Given the description of an element on the screen output the (x, y) to click on. 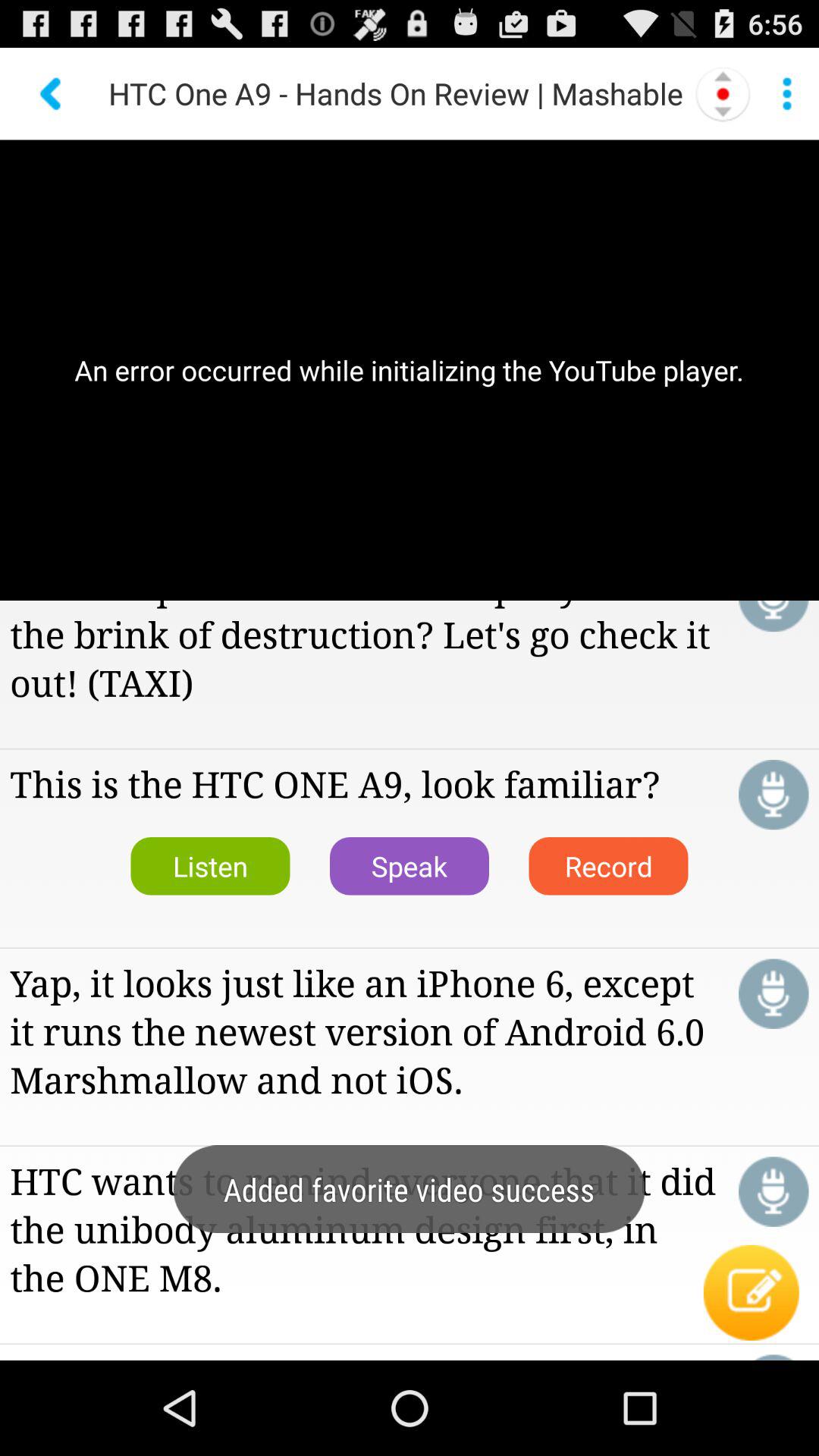
record button (773, 993)
